Given the description of an element on the screen output the (x, y) to click on. 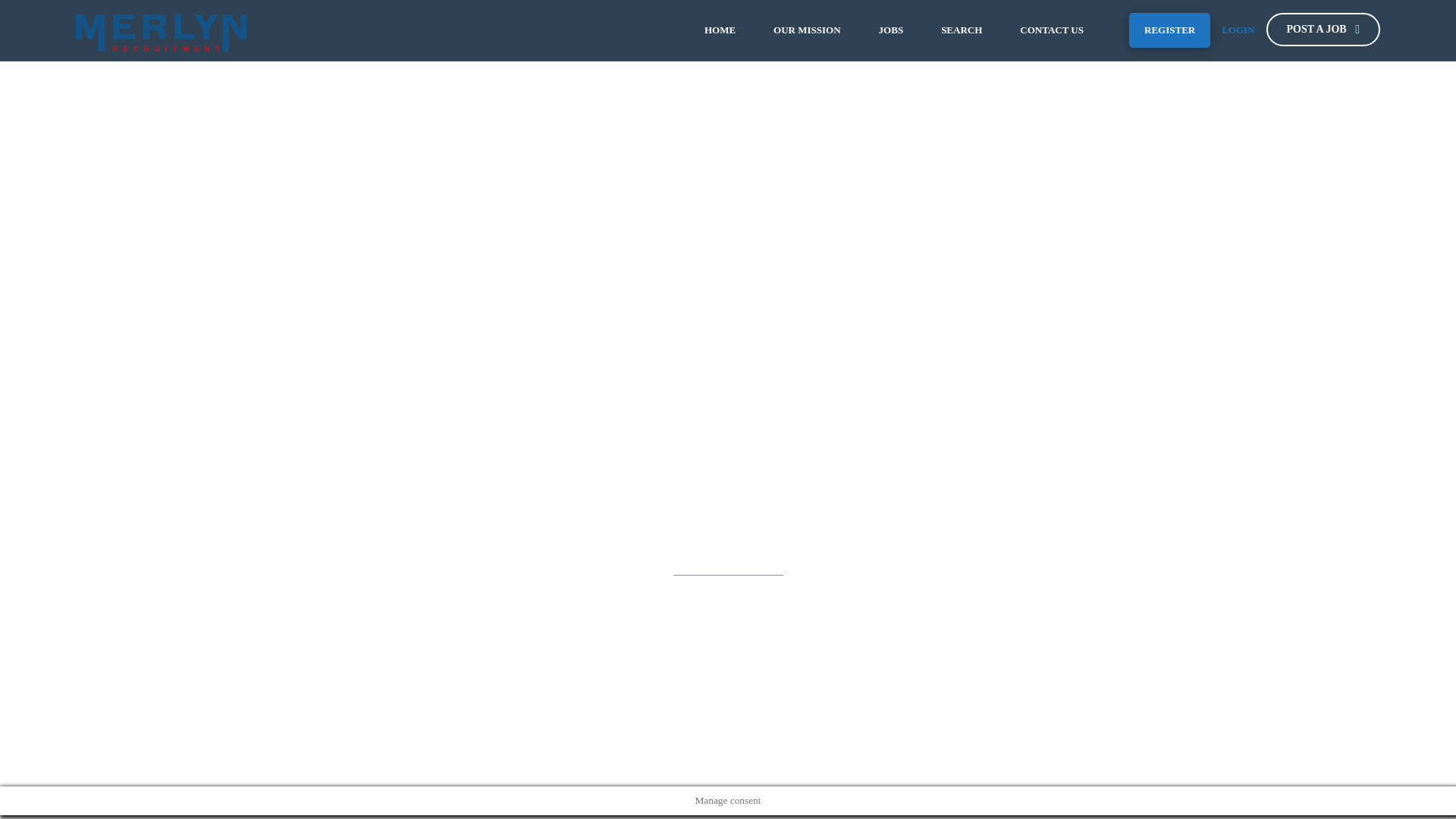
JOBS (891, 30)
Home Page (786, 624)
CONTACT US (1051, 30)
MERLYN Recruitment (160, 30)
POST A JOB (1323, 29)
HOME (719, 30)
SEARCH (961, 30)
OUR MISSION (807, 30)
REGISTER (1169, 30)
LOGIN (1237, 30)
